Given the description of an element on the screen output the (x, y) to click on. 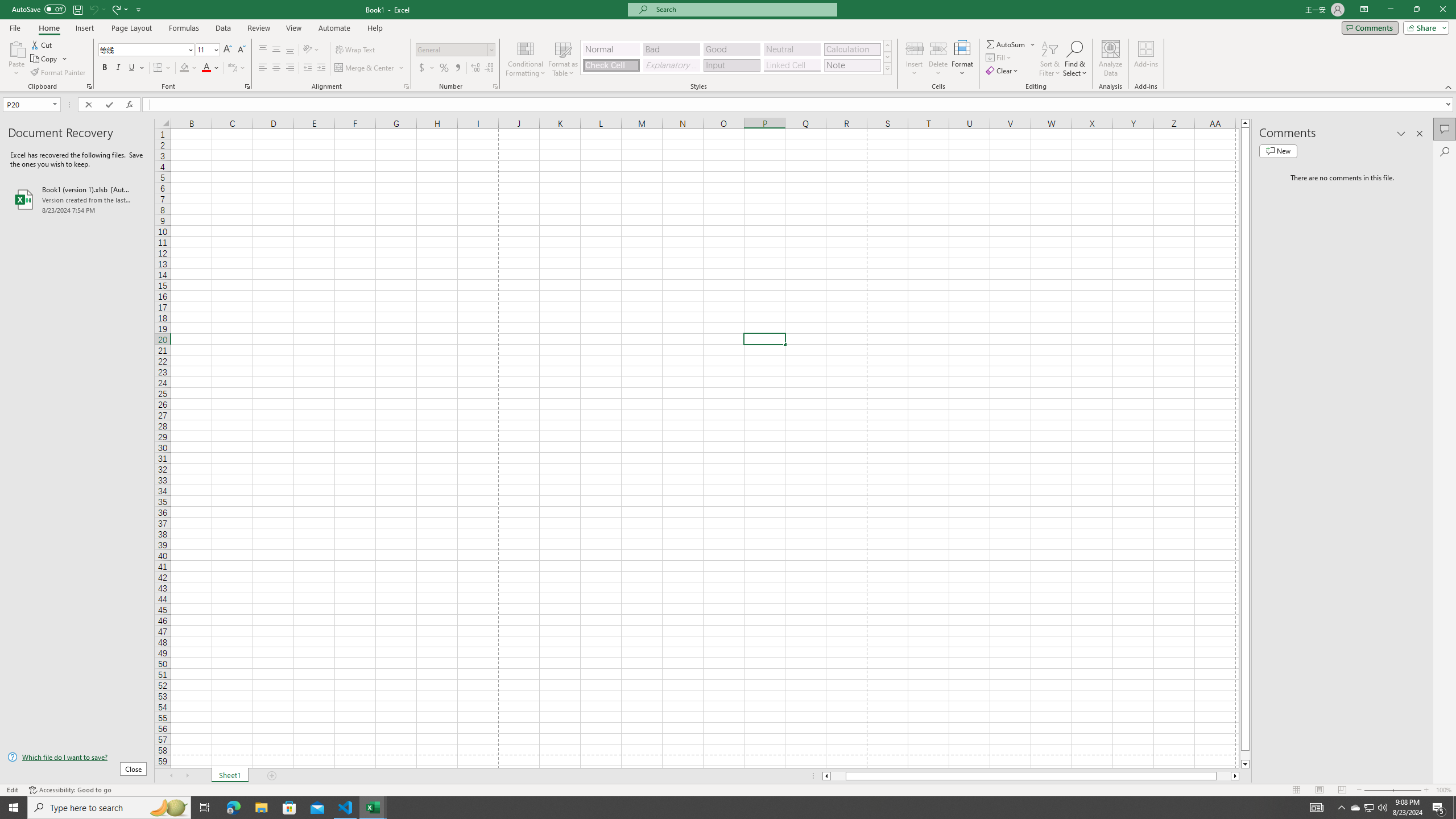
Increase Decimal (474, 67)
Delete (938, 58)
Percent Style (443, 67)
Merge & Center (365, 67)
Underline (131, 67)
Open (54, 104)
Accessibility Checker Accessibility: Good to go (70, 790)
Align Right (290, 67)
Row Down (887, 56)
Page Break Preview (1342, 790)
Merge & Center (369, 67)
Fill (999, 56)
Center (276, 67)
Format as Table (563, 58)
Restore Down (1416, 9)
